Given the description of an element on the screen output the (x, y) to click on. 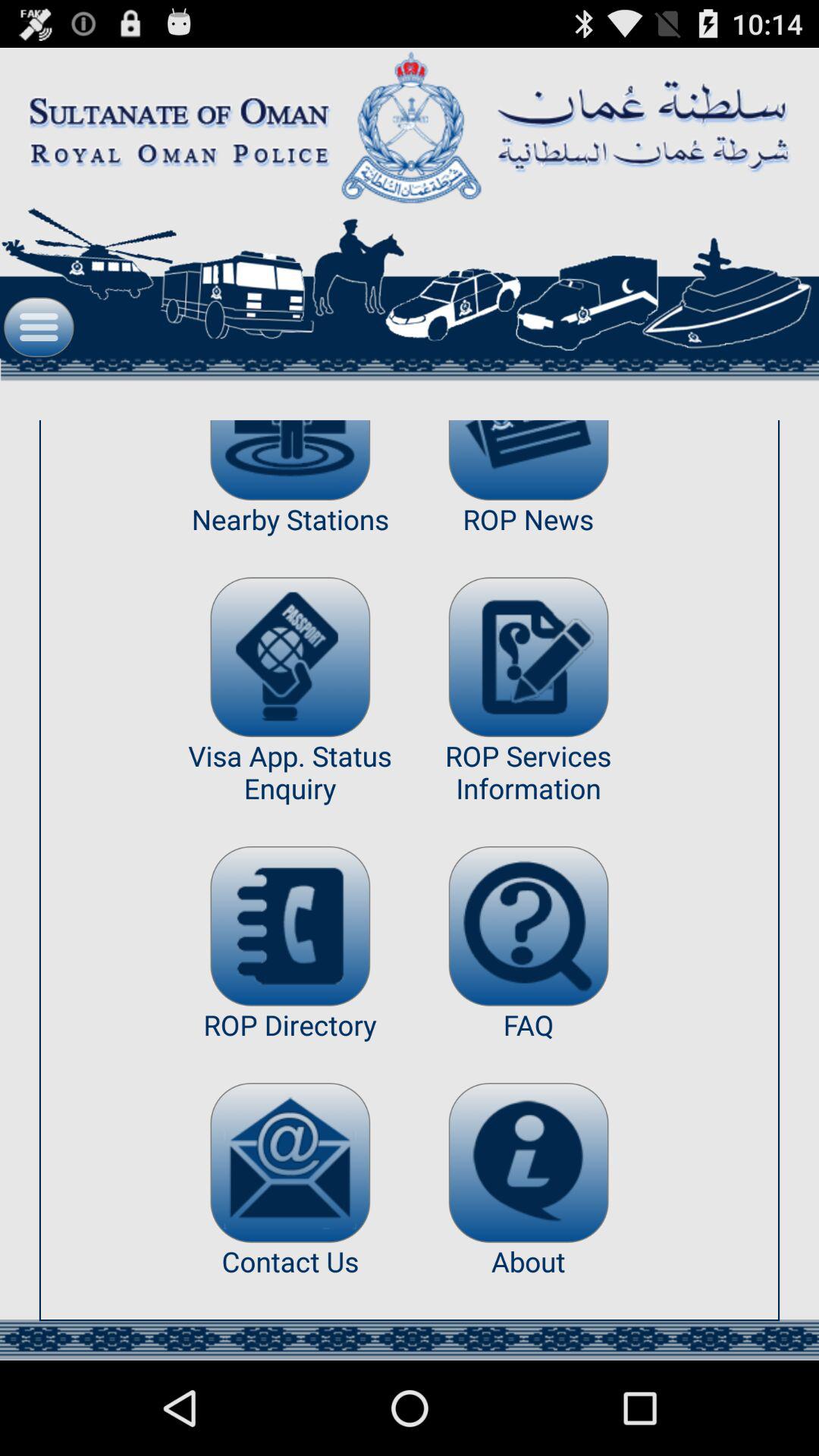
launch app above about app (528, 1162)
